Given the description of an element on the screen output the (x, y) to click on. 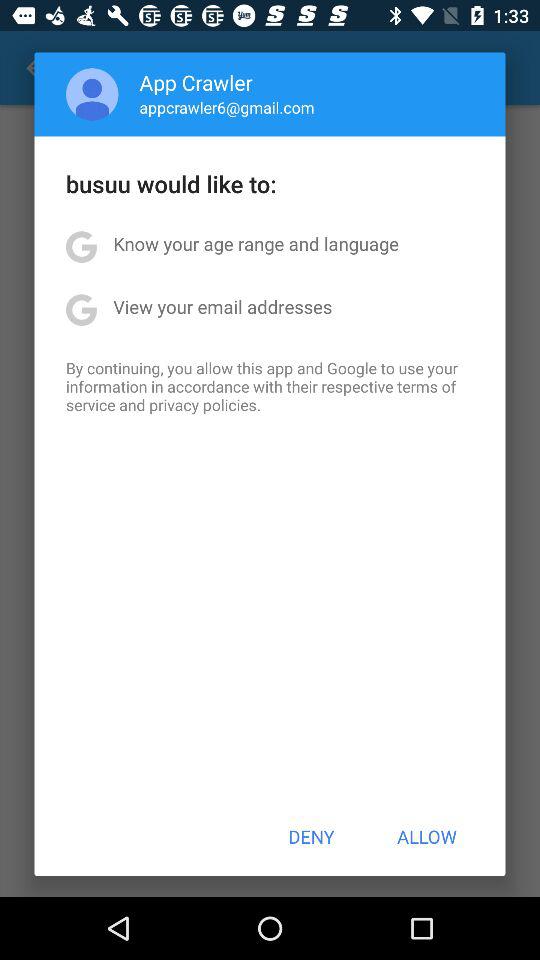
click the know your age icon (255, 243)
